Given the description of an element on the screen output the (x, y) to click on. 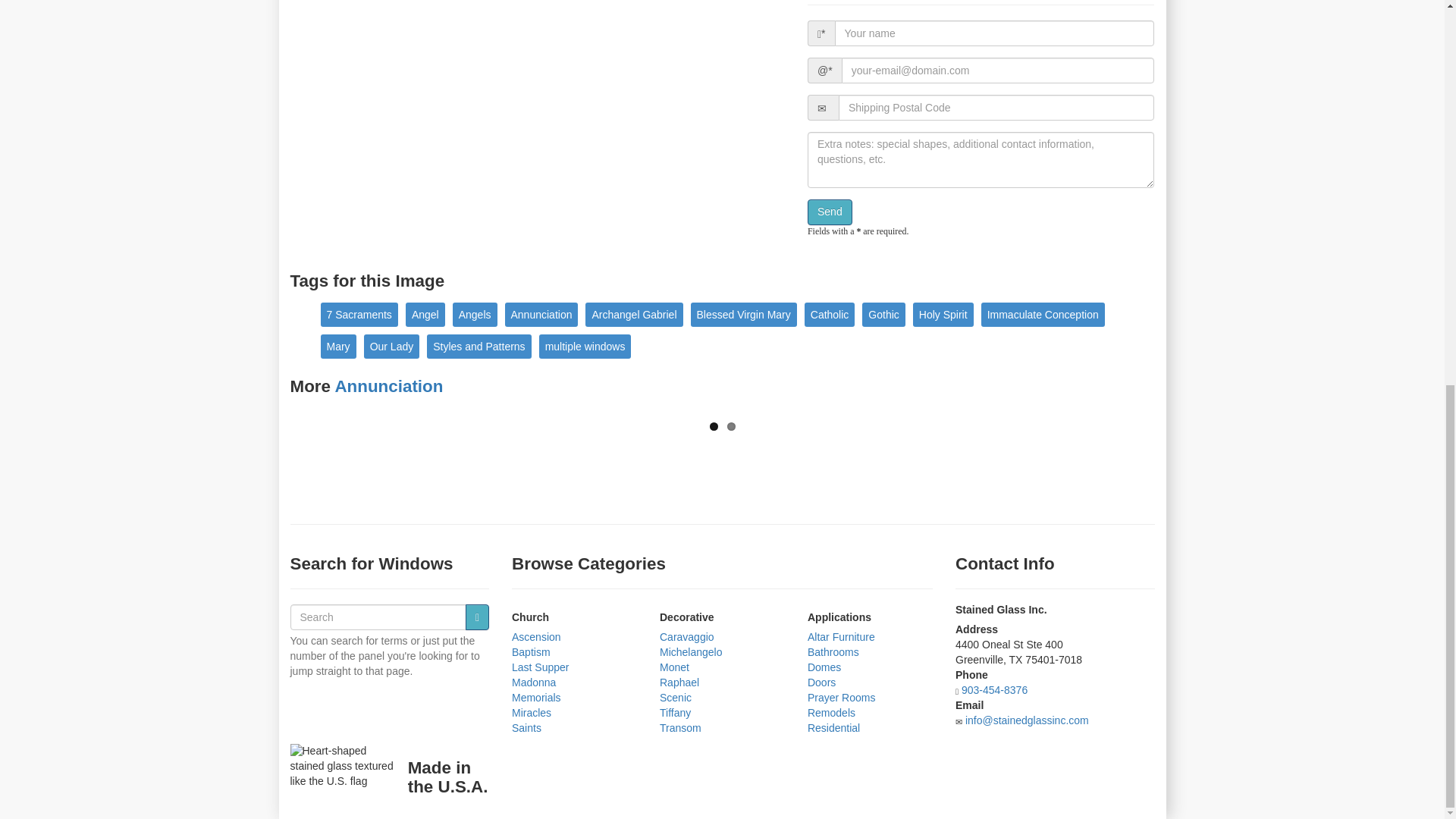
Immaculate Conception (1043, 314)
Mary (337, 346)
Annunciation (541, 314)
Our Lady (392, 346)
Archangel Gabriel (633, 314)
Blessed Virgin Mary (743, 314)
Annunciation (388, 385)
7 Sacraments (358, 314)
Gothic (882, 314)
multiple windows (584, 346)
Send (829, 212)
Angel (425, 314)
Styles and Patterns (478, 346)
Holy Spirit (943, 314)
Angels (474, 314)
